Given the description of an element on the screen output the (x, y) to click on. 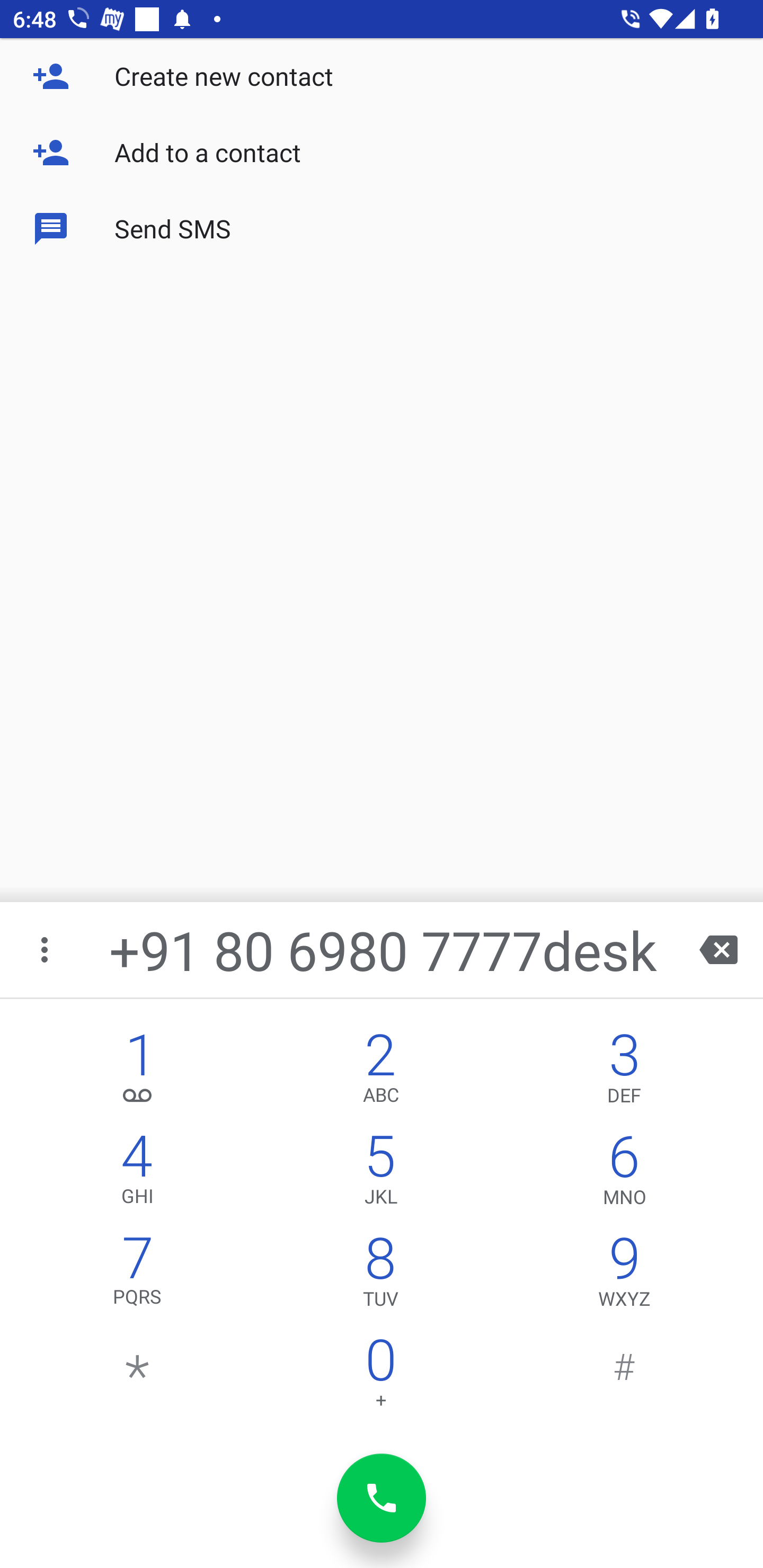
Create new contact (381, 75)
Add to a contact (381, 152)
Send SMS (381, 228)
+91 80 6980 7777desk (382, 949)
backspace (718, 949)
More options (45, 949)
1, 1 (137, 1071)
2,ABC 2 ABC (380, 1071)
3,DEF 3 DEF (624, 1071)
4,GHI 4 GHI (137, 1173)
5,JKL 5 JKL (380, 1173)
6,MNO 6 MNO (624, 1173)
7,PQRS 7 PQRS (137, 1275)
8,TUV 8 TUV (380, 1275)
9,WXYZ 9 WXYZ (624, 1275)
* (137, 1377)
0 0 + (380, 1377)
# (624, 1377)
dial (381, 1497)
